Given the description of an element on the screen output the (x, y) to click on. 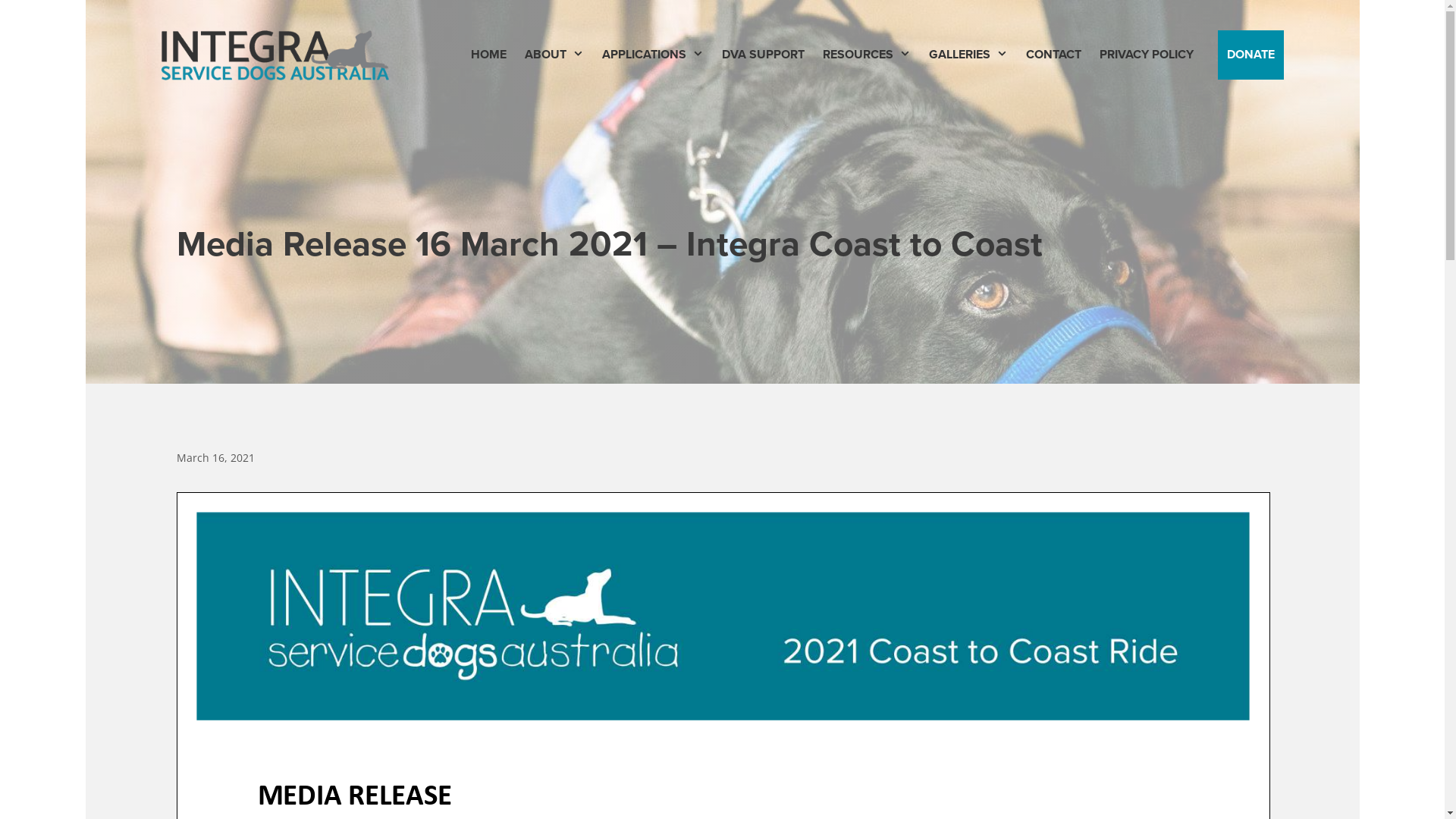
CONTACT Element type: text (1052, 54)
ABOUT Element type: text (554, 54)
Integra Service Dogs Australia Element type: hover (274, 53)
DVA SUPPORT Element type: text (762, 54)
GALLERIES Element type: text (967, 54)
APPLICATIONS Element type: text (652, 54)
Integra Service Dogs Australia Element type: hover (274, 55)
HOME Element type: text (488, 54)
PRIVACY POLICY Element type: text (1146, 54)
RESOURCES Element type: text (866, 54)
DONATE Element type: text (1250, 54)
